Given the description of an element on the screen output the (x, y) to click on. 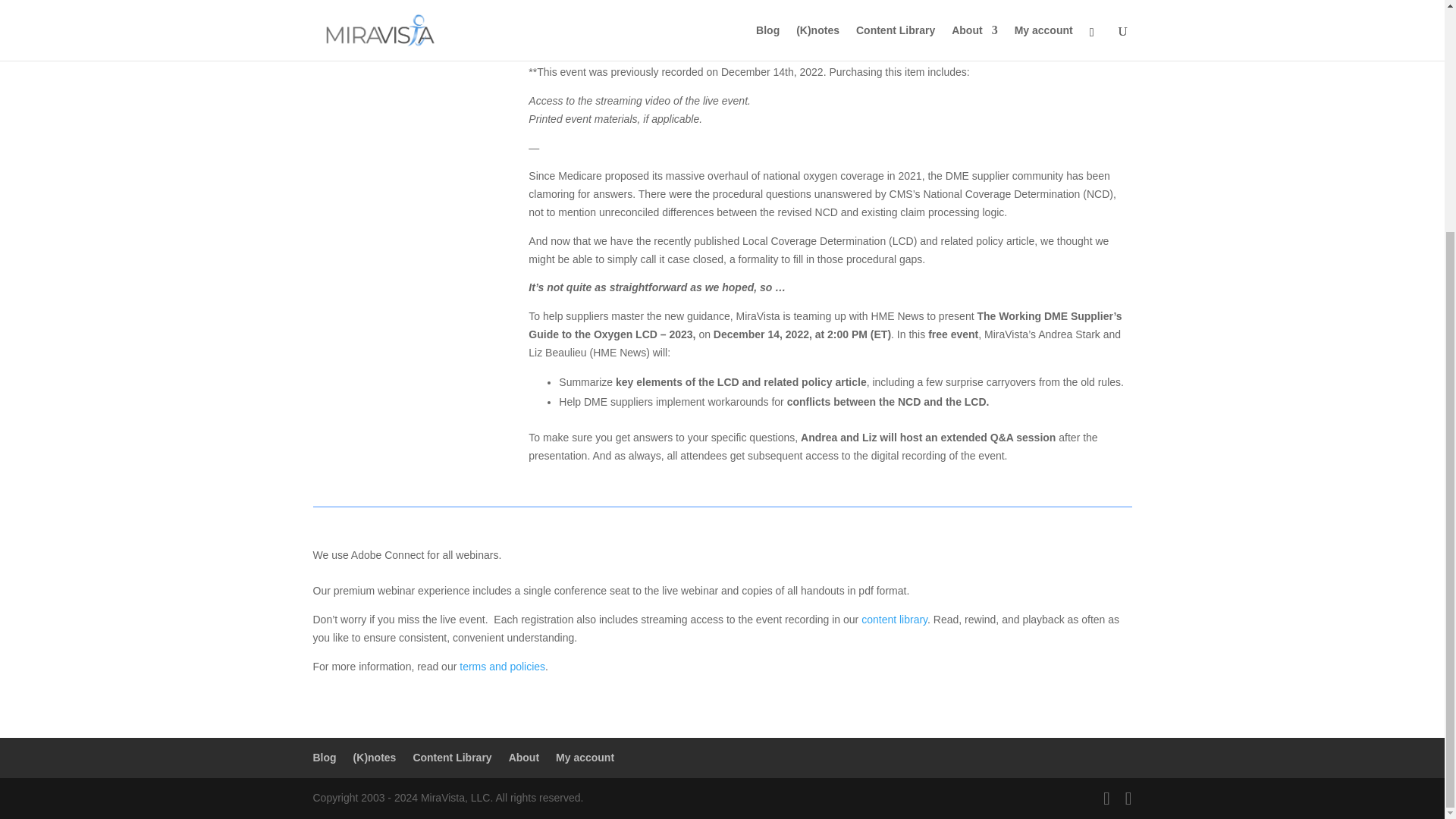
Content Library (452, 757)
About (523, 757)
terms and policies (502, 666)
content library (894, 619)
Blog (324, 757)
My account (585, 757)
